Given the description of an element on the screen output the (x, y) to click on. 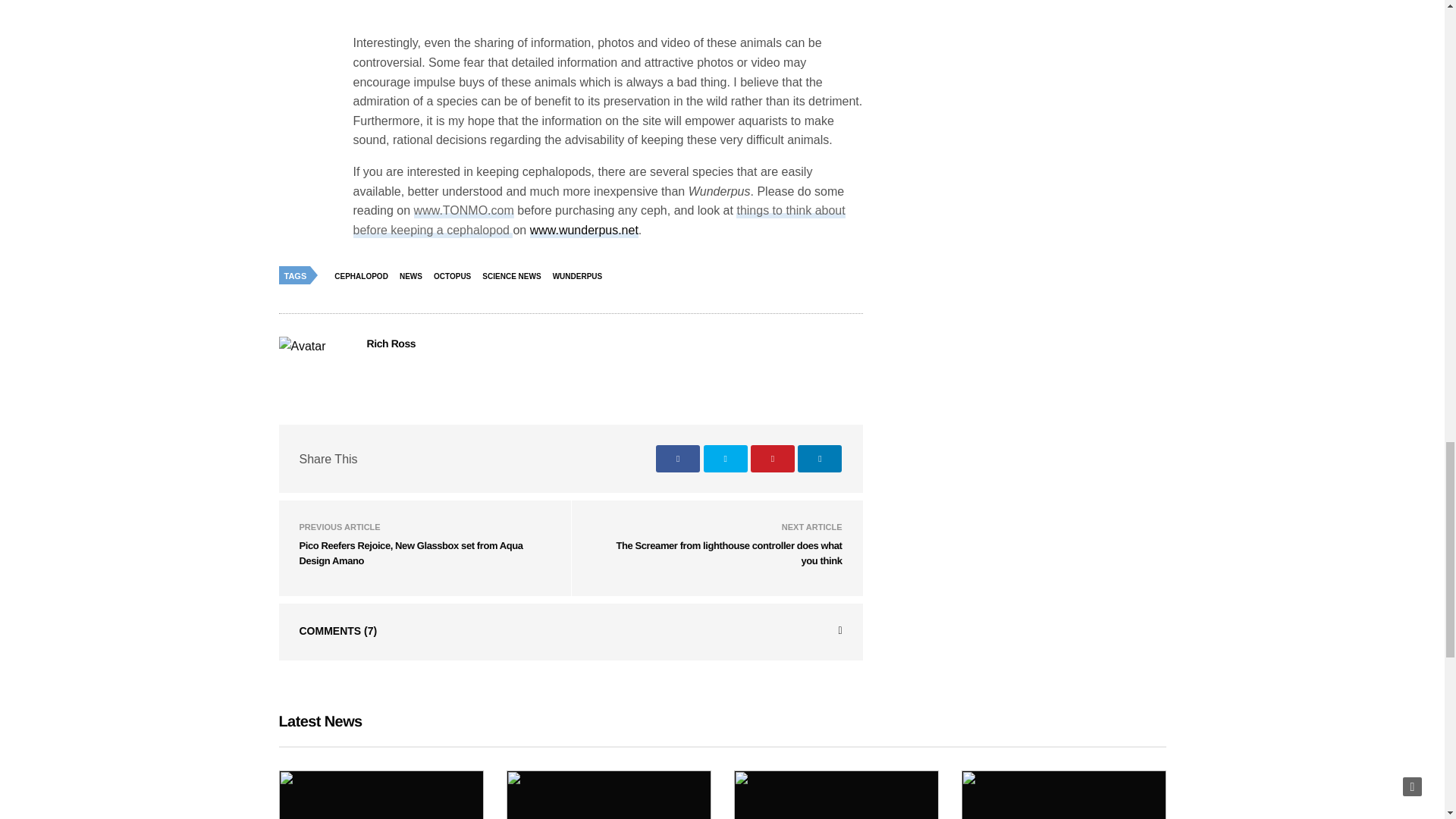
Unusual Gold Parrotfish arrives from Indonesia (381, 794)
Cirrhilabrus heterodon: valid species or nah? (608, 794)
The Screamer from lighthouse controller does what you think (729, 552)
